Given the description of an element on the screen output the (x, y) to click on. 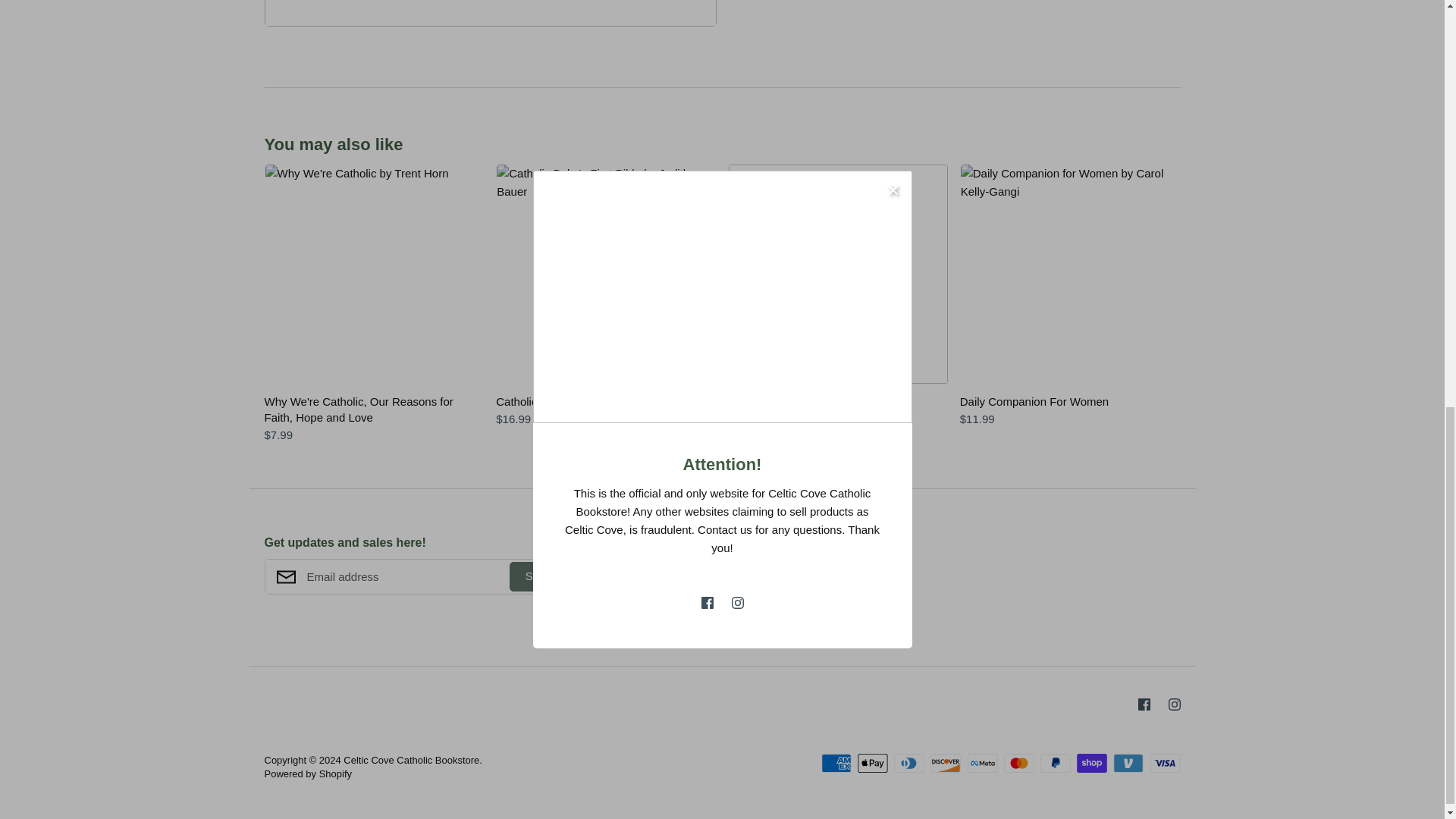
Visa (1164, 763)
Discover (945, 763)
Apple Pay (872, 763)
Venmo (1127, 763)
American Express (836, 763)
Meta Pay (982, 763)
PayPal (1055, 763)
Shop Pay (1091, 763)
Diners Club (908, 763)
Mastercard (1018, 763)
